Given the description of an element on the screen output the (x, y) to click on. 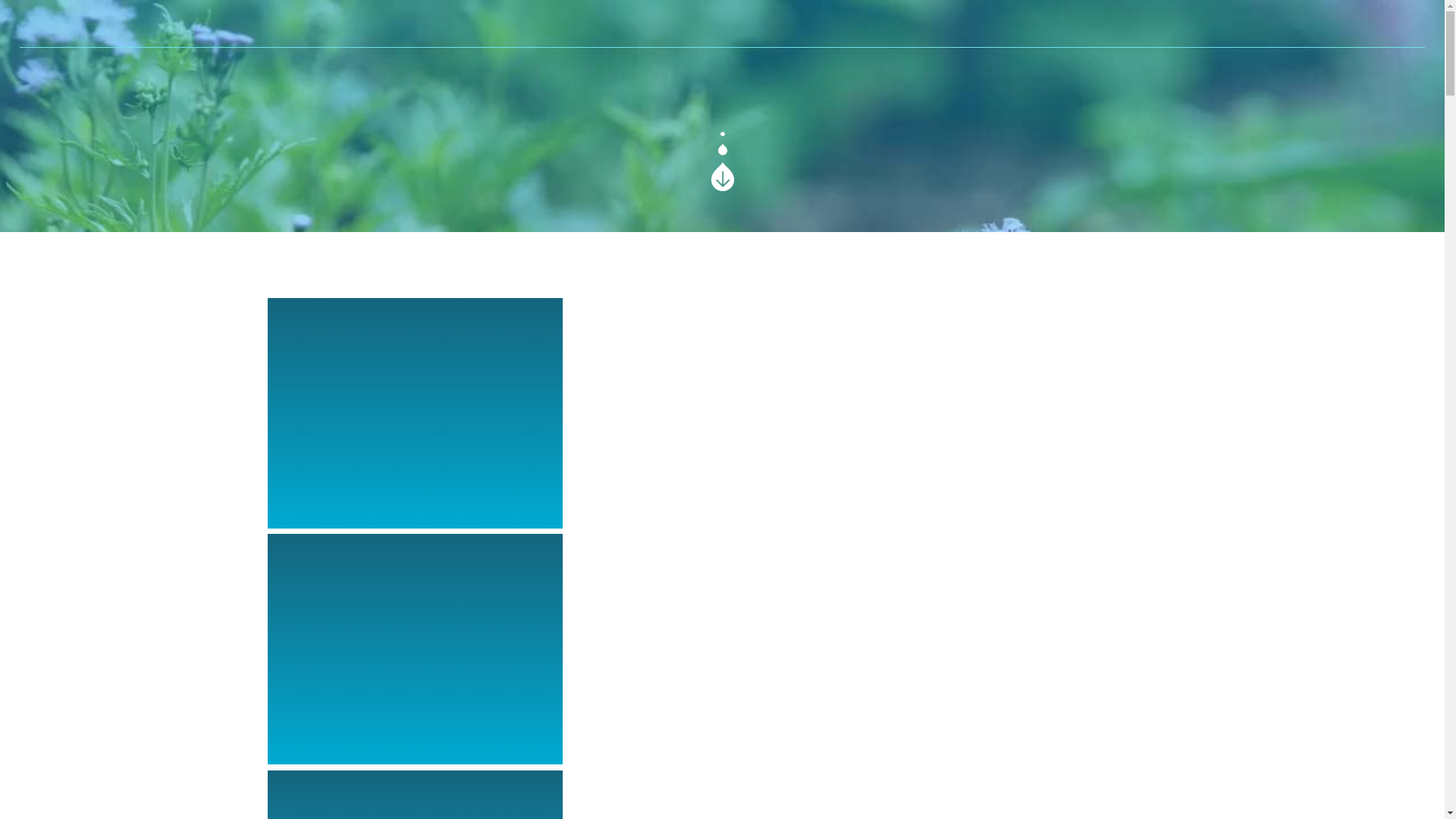
Instagram (765, 24)
YouTube (721, 24)
Facebook (677, 24)
